Given the description of an element on the screen output the (x, y) to click on. 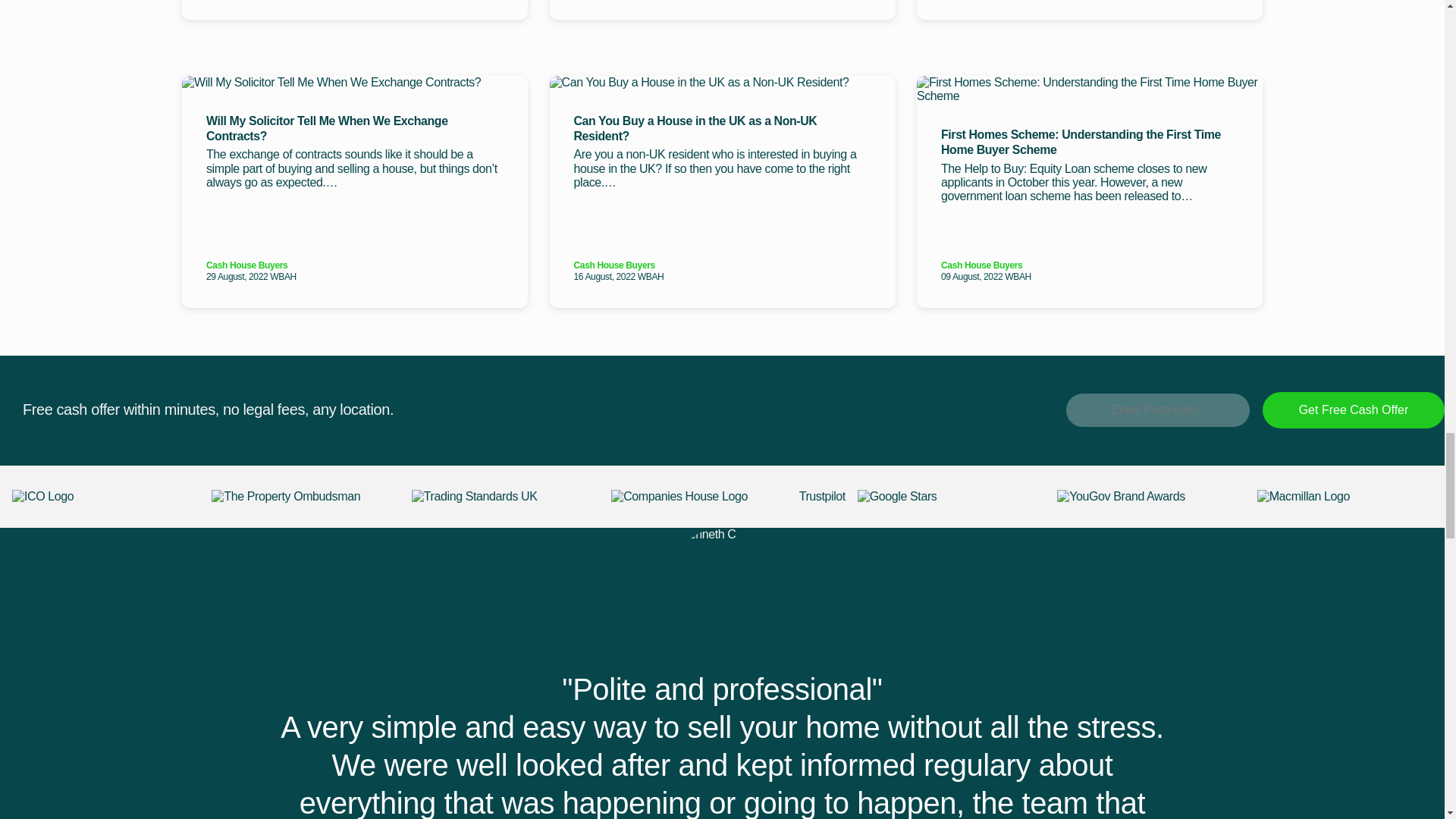
Can You Buy a House in the UK as a Non-UK Resident? (721, 128)
Cash House Buyers (721, 265)
Cash House Buyers (354, 265)
Will My Solicitor Tell Me When We Exchange Contracts? (354, 128)
Cash House Buyers (1089, 265)
